Given the description of an element on the screen output the (x, y) to click on. 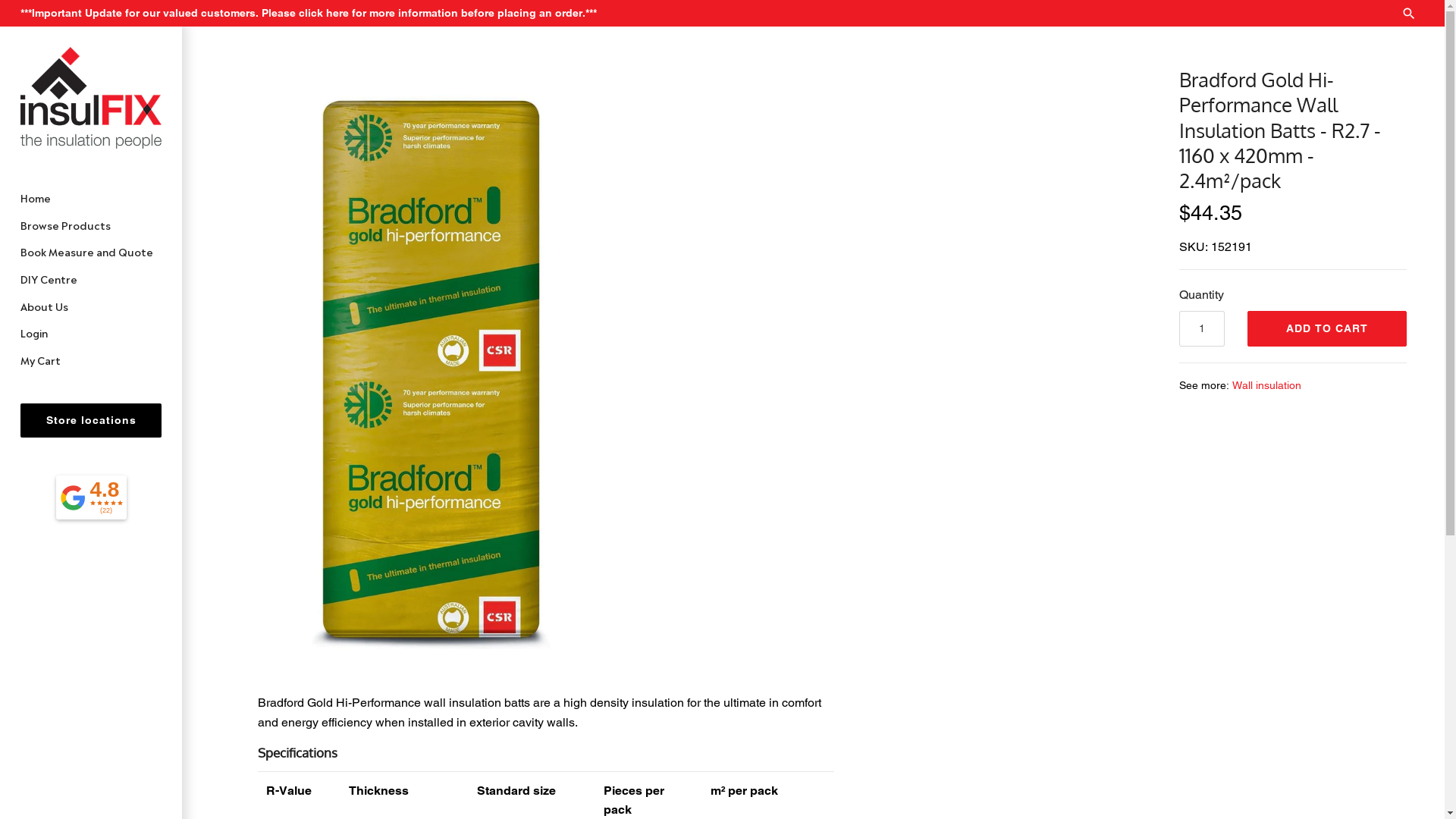
DIY Centre Element type: text (90, 278)
Home Element type: text (90, 197)
(22) Element type: text (105, 510)
About Us Element type: text (90, 306)
ADD TO CART Element type: text (1326, 328)
Browse Products Element type: text (90, 224)
4.8
(22) Element type: text (91, 497)
Insulfix Element type: hover (91, 98)
Book Measure and Quote Element type: text (90, 251)
My Cart Element type: text (90, 359)
Login Element type: text (90, 332)
Wall insulation Element type: text (1266, 385)
Store locations Element type: text (90, 420)
